Given the description of an element on the screen output the (x, y) to click on. 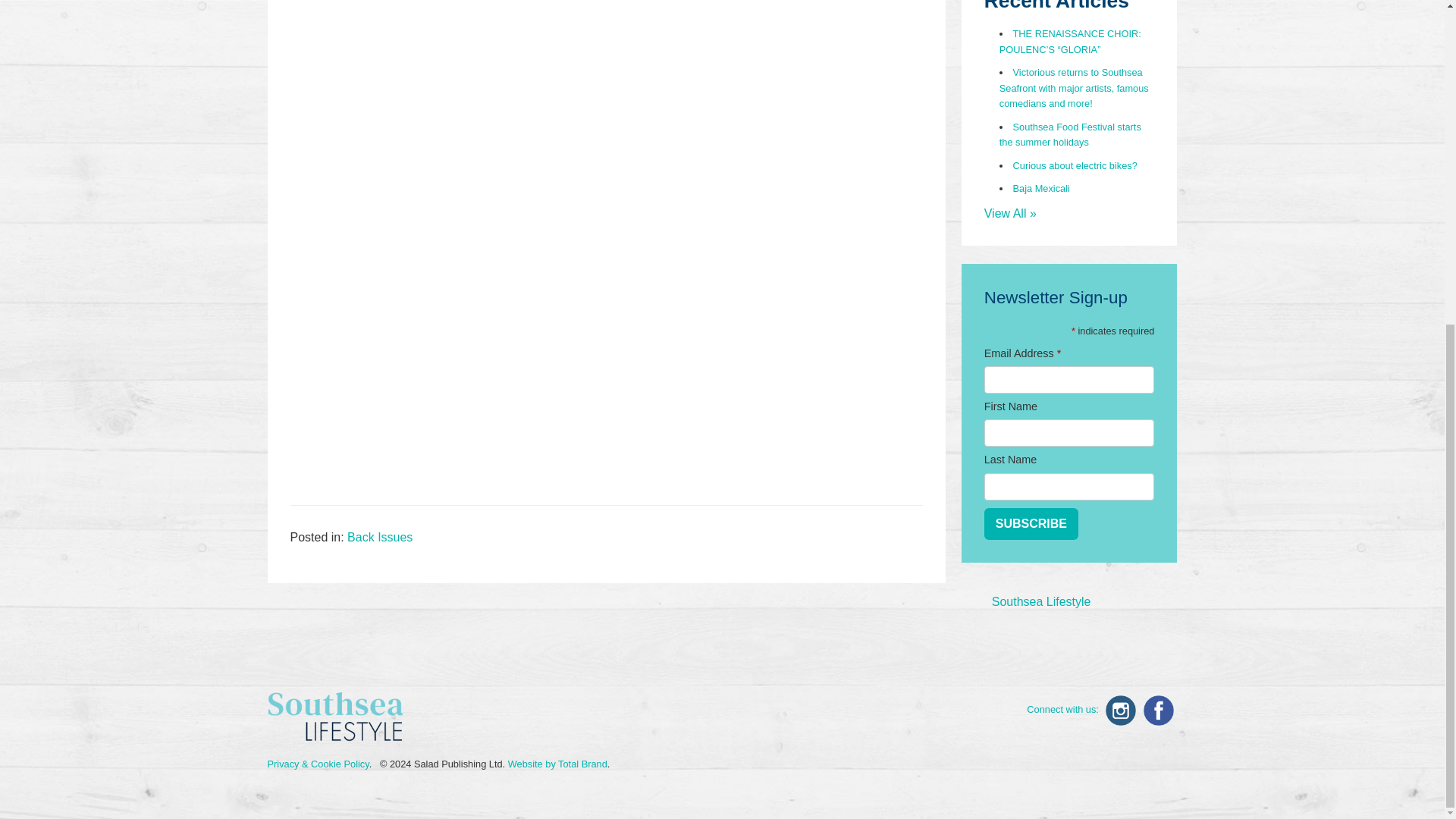
Back Issues (379, 536)
Southsea Lifestyle (1040, 601)
Southsea Food Festival starts the summer holidays (1069, 134)
Subscribe (1031, 523)
Curious about electric bikes? (1075, 165)
Subscribe (1031, 523)
Website by Total Brand (557, 763)
Baja Mexicali (1041, 188)
